Given the description of an element on the screen output the (x, y) to click on. 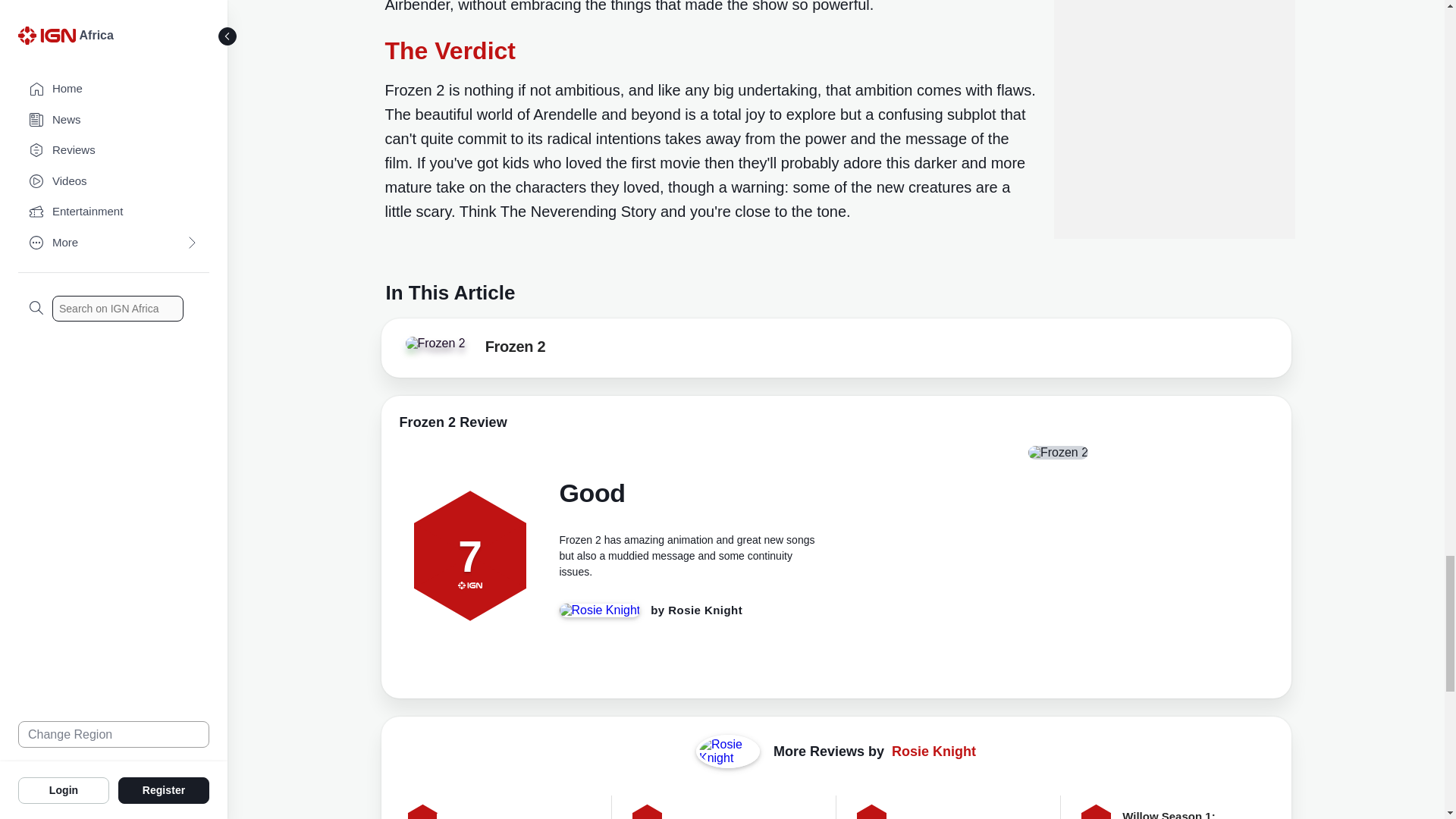
Frozen 2 (440, 347)
Frozen 2 (515, 349)
Rosie Knight (705, 609)
Frozen 2 (515, 349)
Frozen 2 (434, 343)
